Given the description of an element on the screen output the (x, y) to click on. 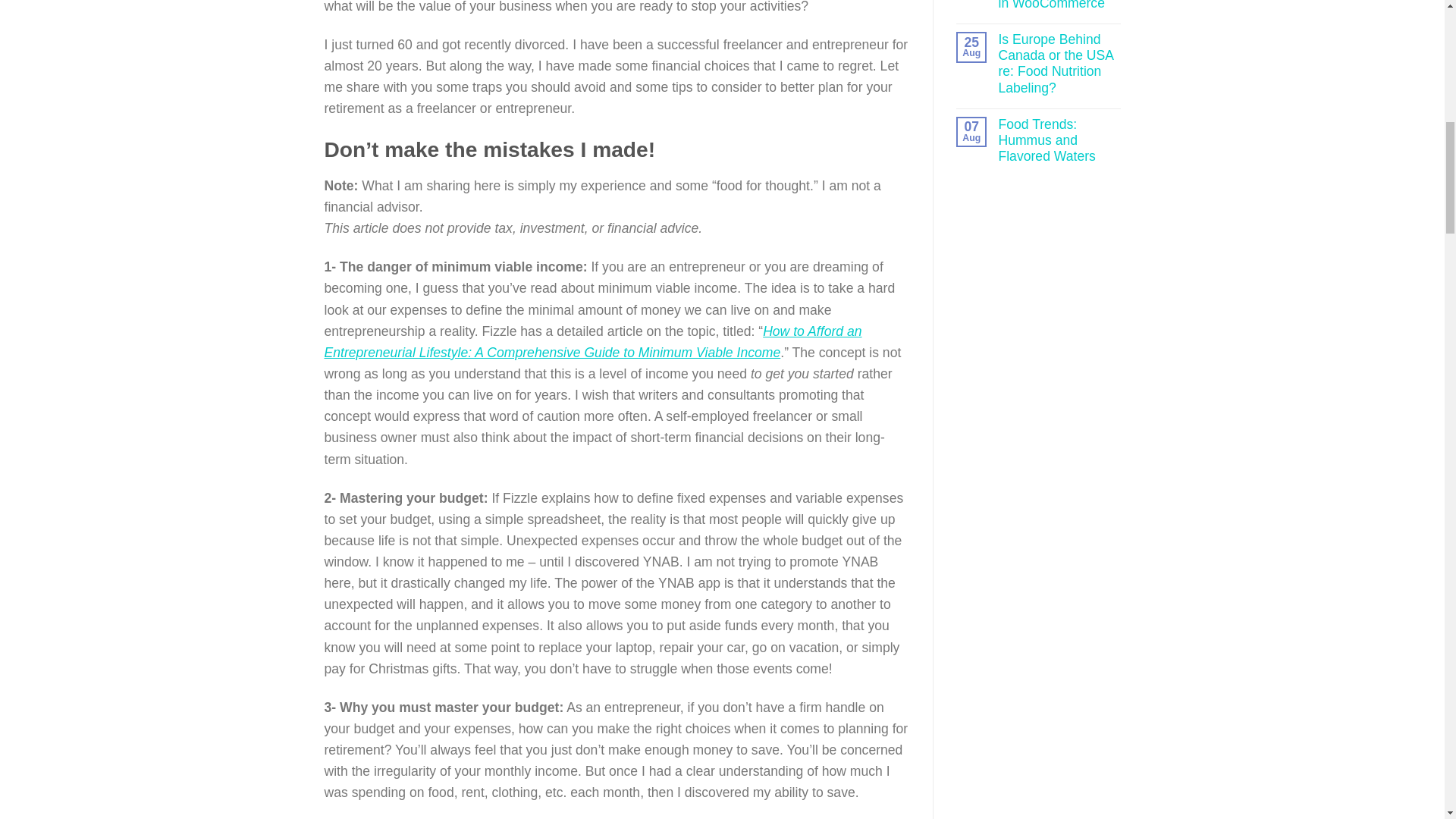
Food Trends: Hummus and Flavored Waters (1058, 140)
